Given the description of an element on the screen output the (x, y) to click on. 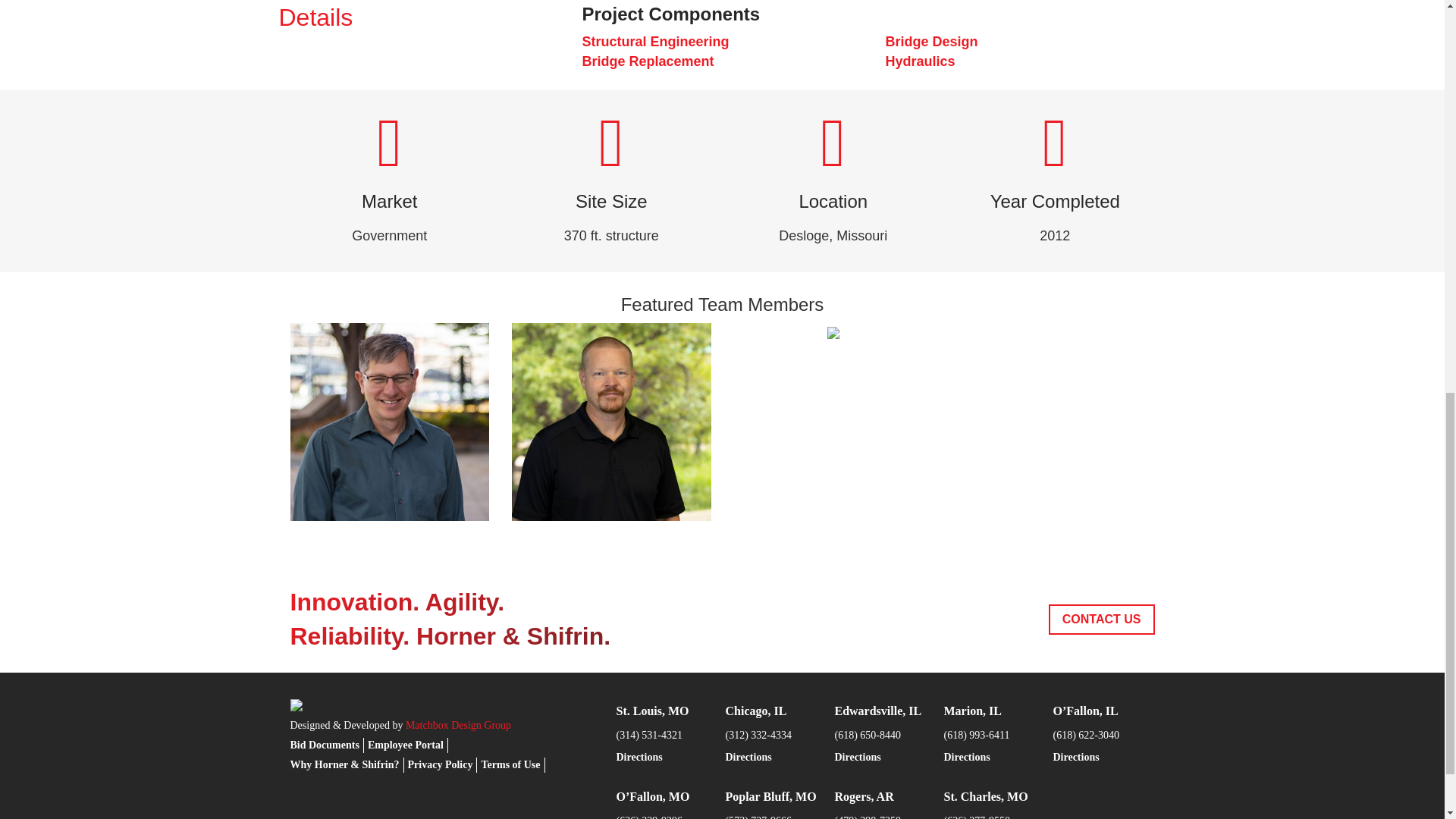
CONTACT US (1101, 619)
Bid Documents (323, 745)
Matchbox Design Group (458, 725)
Bridge Replacement (646, 61)
Bridge Design (930, 41)
Hydraulics (920, 61)
Structural Engineering (654, 41)
